Given the description of an element on the screen output the (x, y) to click on. 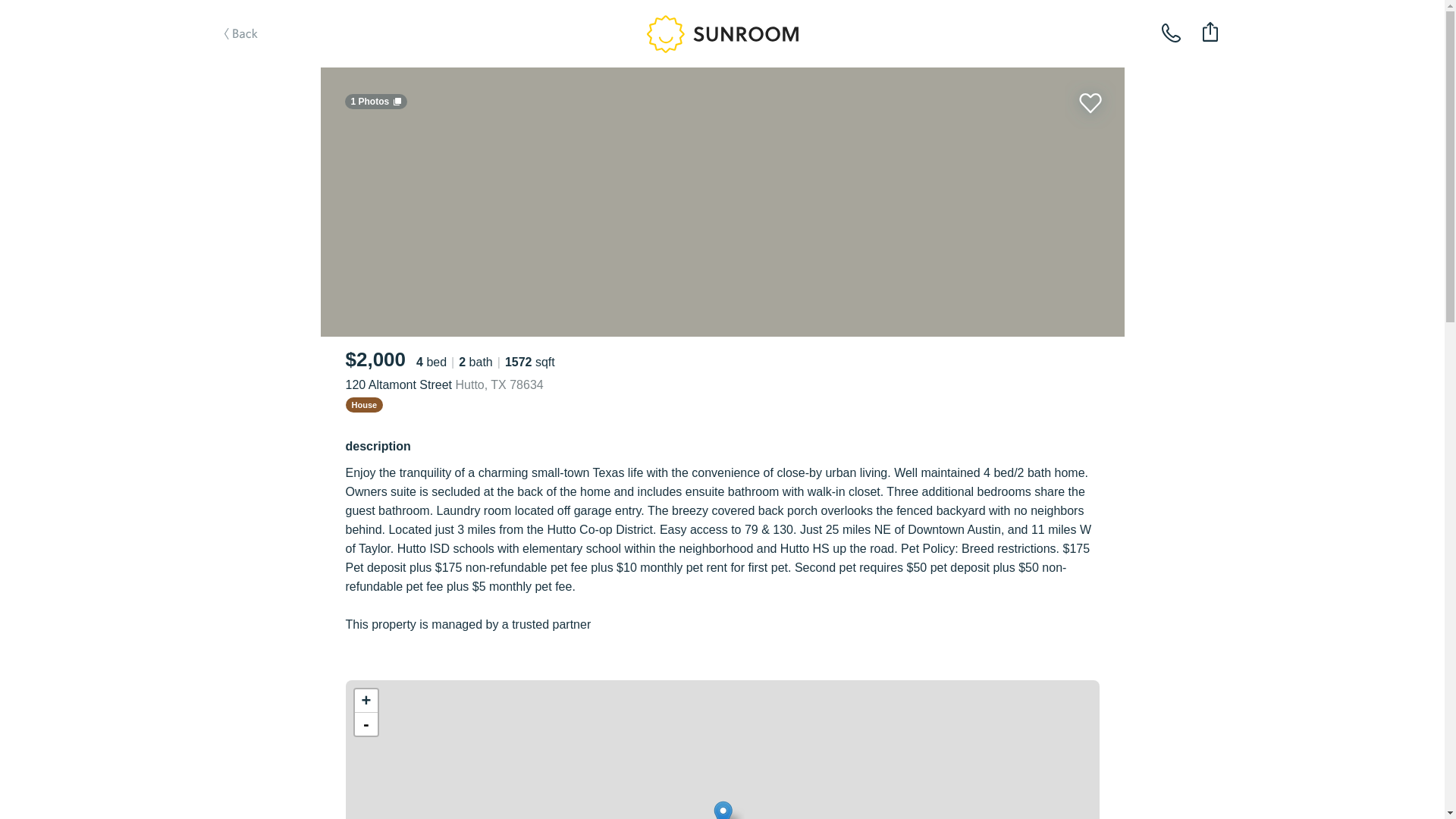
Zoom out (366, 723)
Zoom in (366, 700)
Back (260, 57)
